Given the description of an element on the screen output the (x, y) to click on. 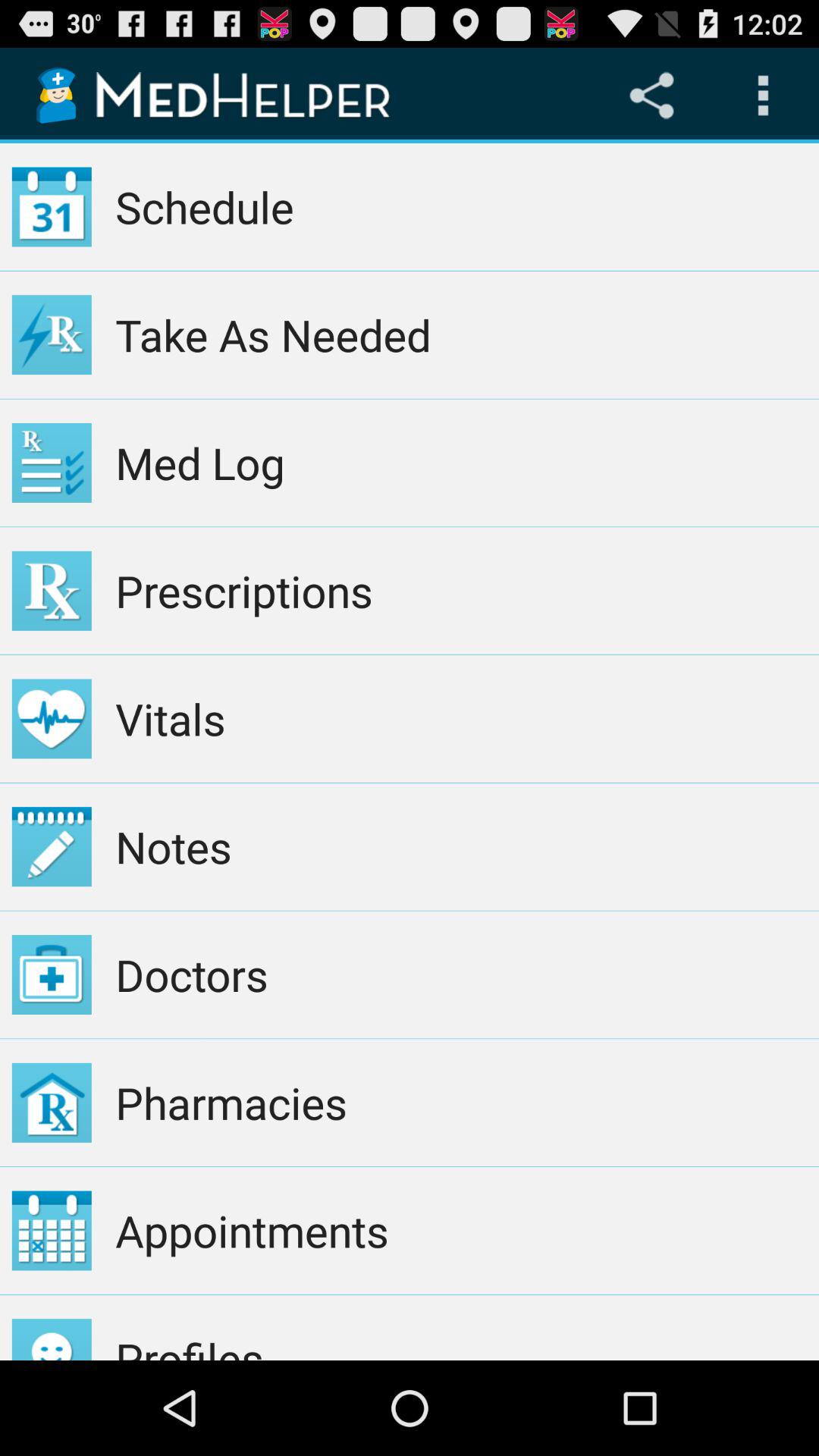
turn off the icon above the prescriptions app (461, 462)
